Given the description of an element on the screen output the (x, y) to click on. 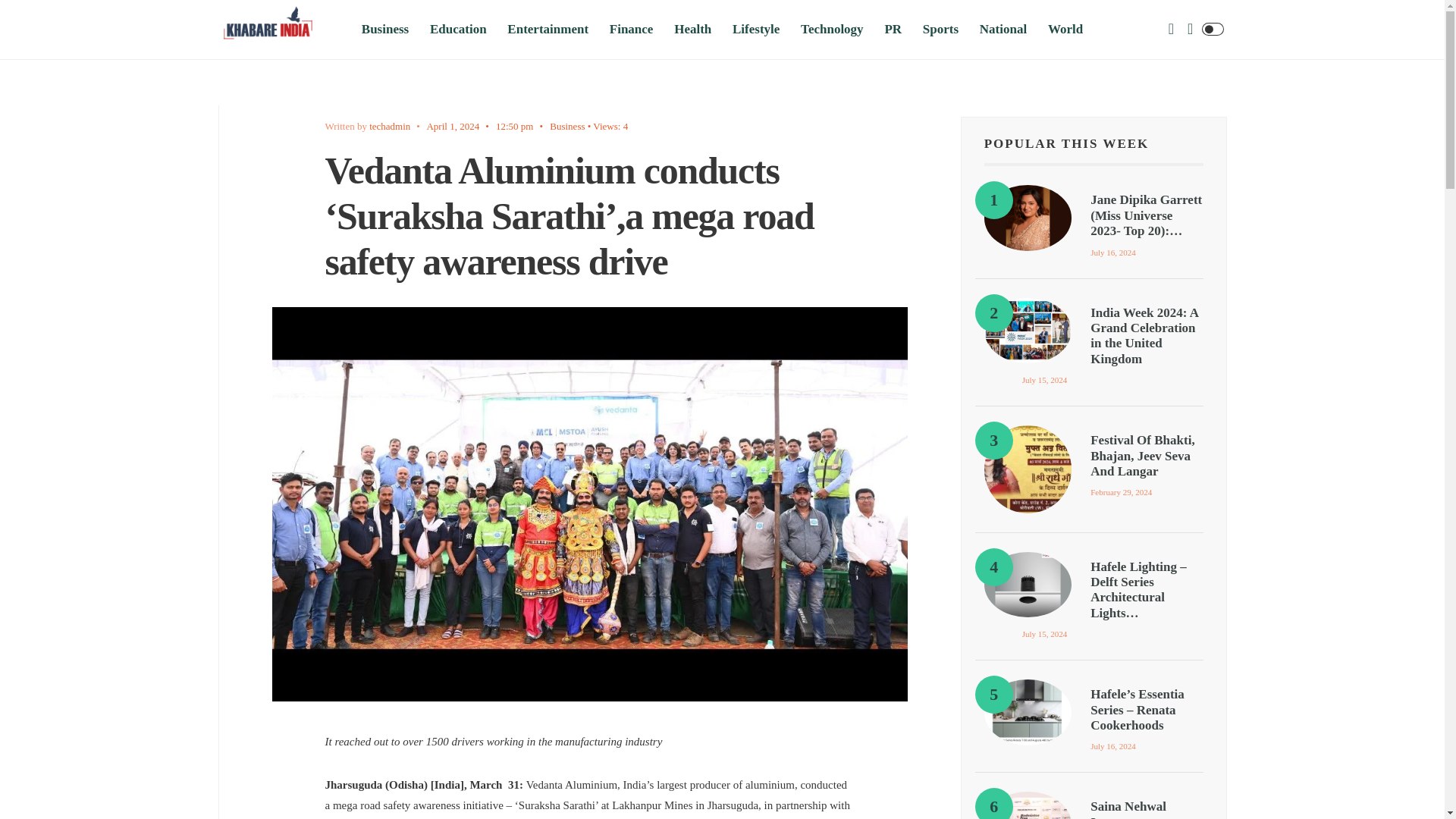
India Week 2024: A Grand Celebration in the United Kingdom (1027, 330)
Sports (940, 28)
National (1002, 28)
Entertainment (547, 28)
Education (457, 28)
Health (692, 28)
World (1065, 28)
Festival Of Bhakti, Bhajan, Jeev Seva And Langar (1027, 469)
techadmin (389, 125)
Business (385, 28)
Finance (631, 28)
Technology (831, 28)
Business (567, 125)
Posts by techadmin (389, 125)
Lifestyle (755, 28)
